Given the description of an element on the screen output the (x, y) to click on. 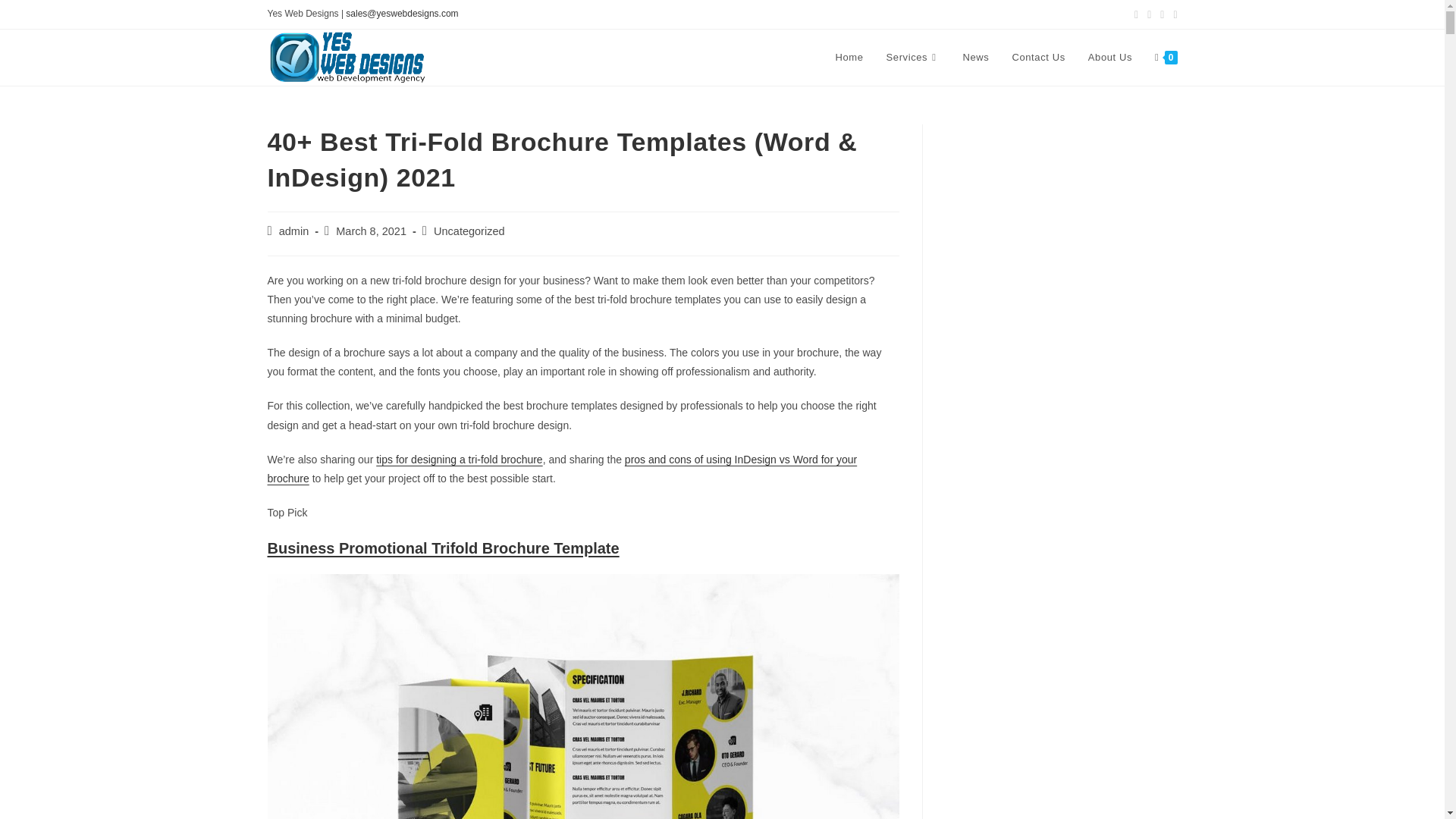
admin (293, 231)
Home (849, 57)
tips for designing a tri-fold brochure (458, 459)
About Us (1109, 57)
Uncategorized (469, 231)
Posts by admin (293, 231)
pros and cons of using InDesign vs Word for your brochure (561, 468)
Contact Us (1037, 57)
Services (913, 57)
